Given the description of an element on the screen output the (x, y) to click on. 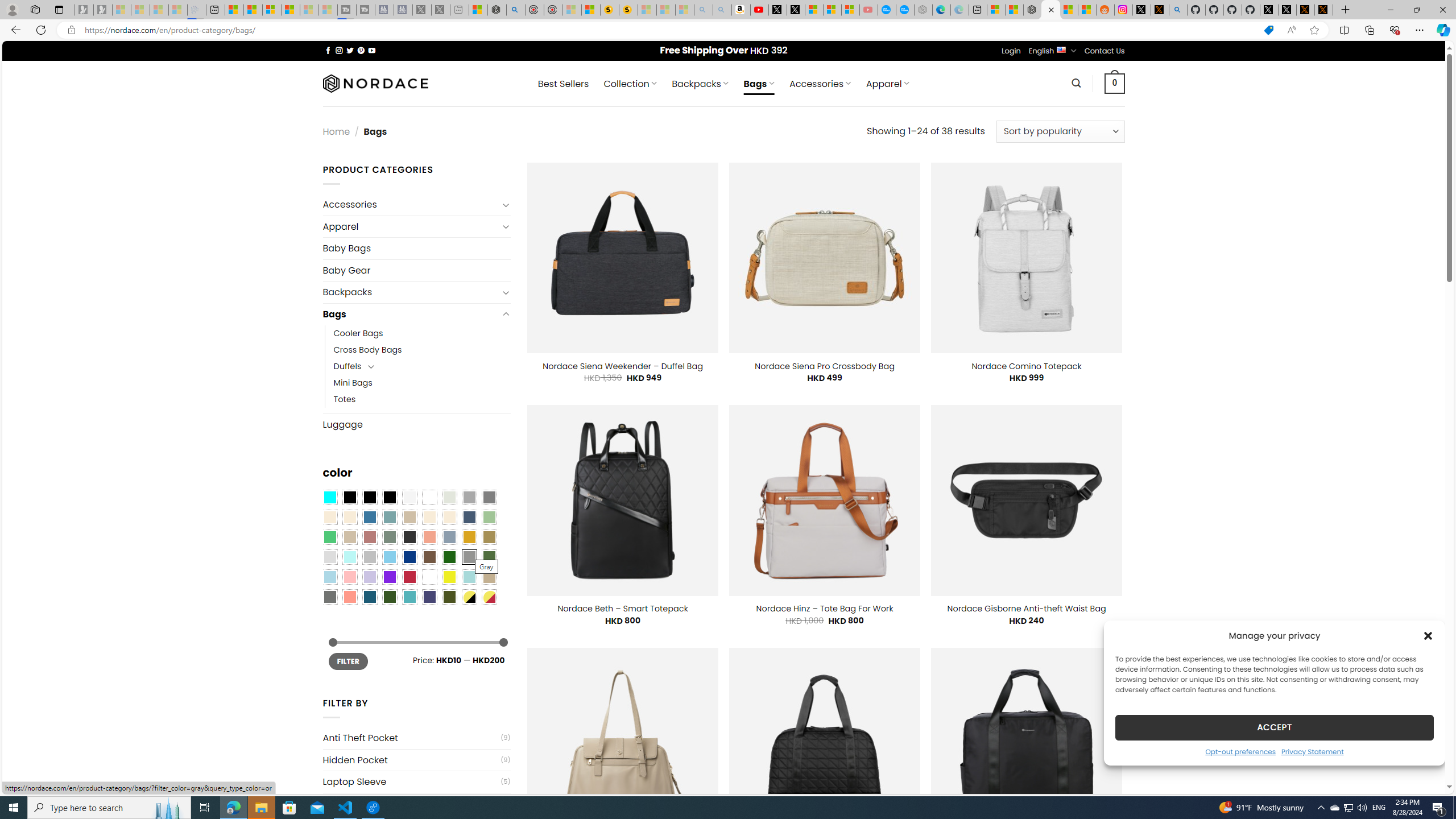
Sage (389, 536)
Day 1: Arriving in Yemen (surreal to be here) - YouTube (759, 9)
FILTER (347, 661)
Cooler Bags (357, 333)
USB Charging Port(5) (416, 803)
Shop order (1060, 131)
Baby Bags (416, 248)
Mini Bags (422, 382)
Purple (389, 577)
